Given the description of an element on the screen output the (x, y) to click on. 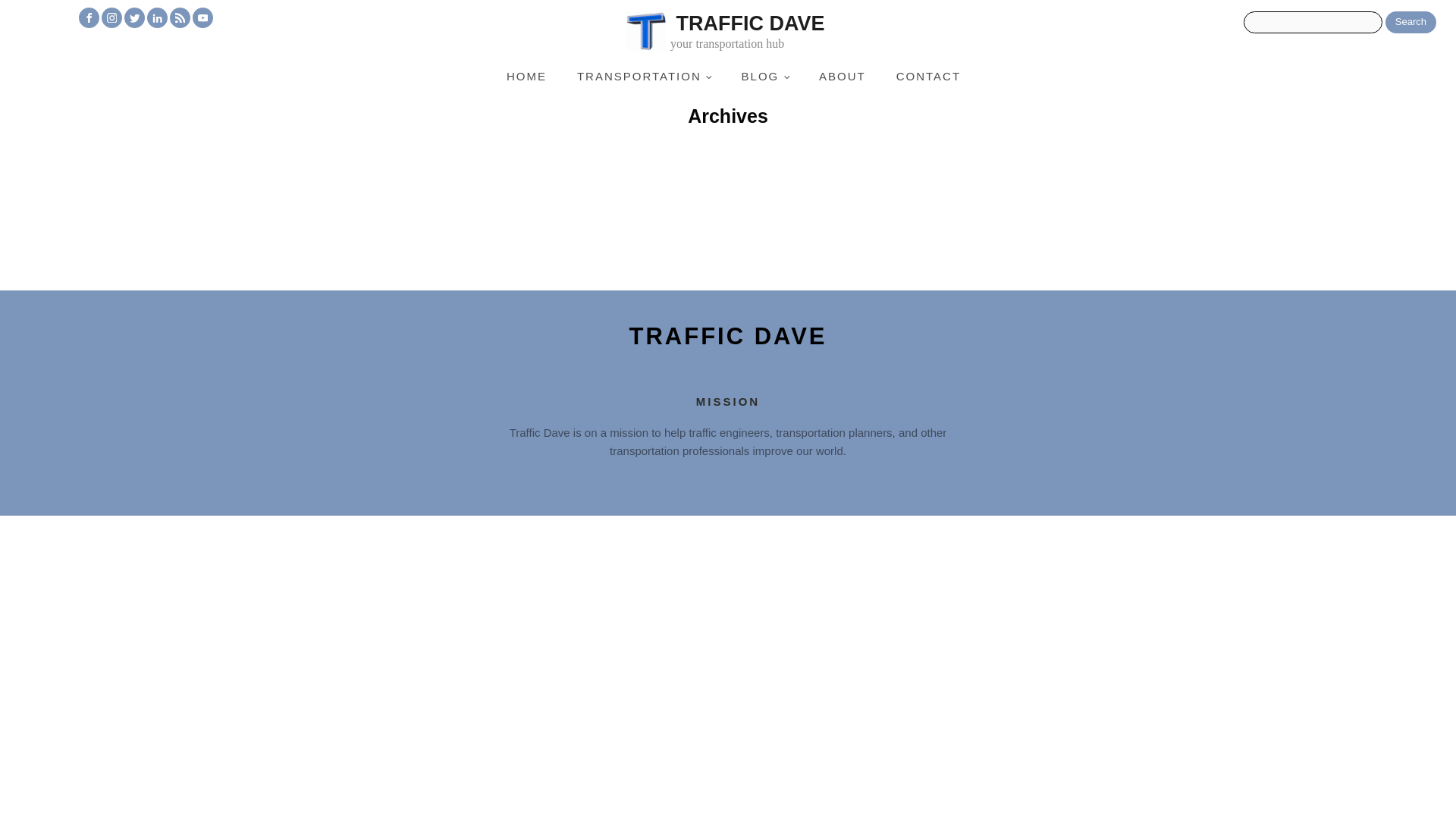
TRANSPORTATION (644, 76)
ABOUT (749, 32)
TRAFFIC DAVE (841, 76)
Search (727, 336)
BLOG (1410, 22)
CONTACT (764, 76)
Search (927, 76)
HOME (1410, 22)
